Given the description of an element on the screen output the (x, y) to click on. 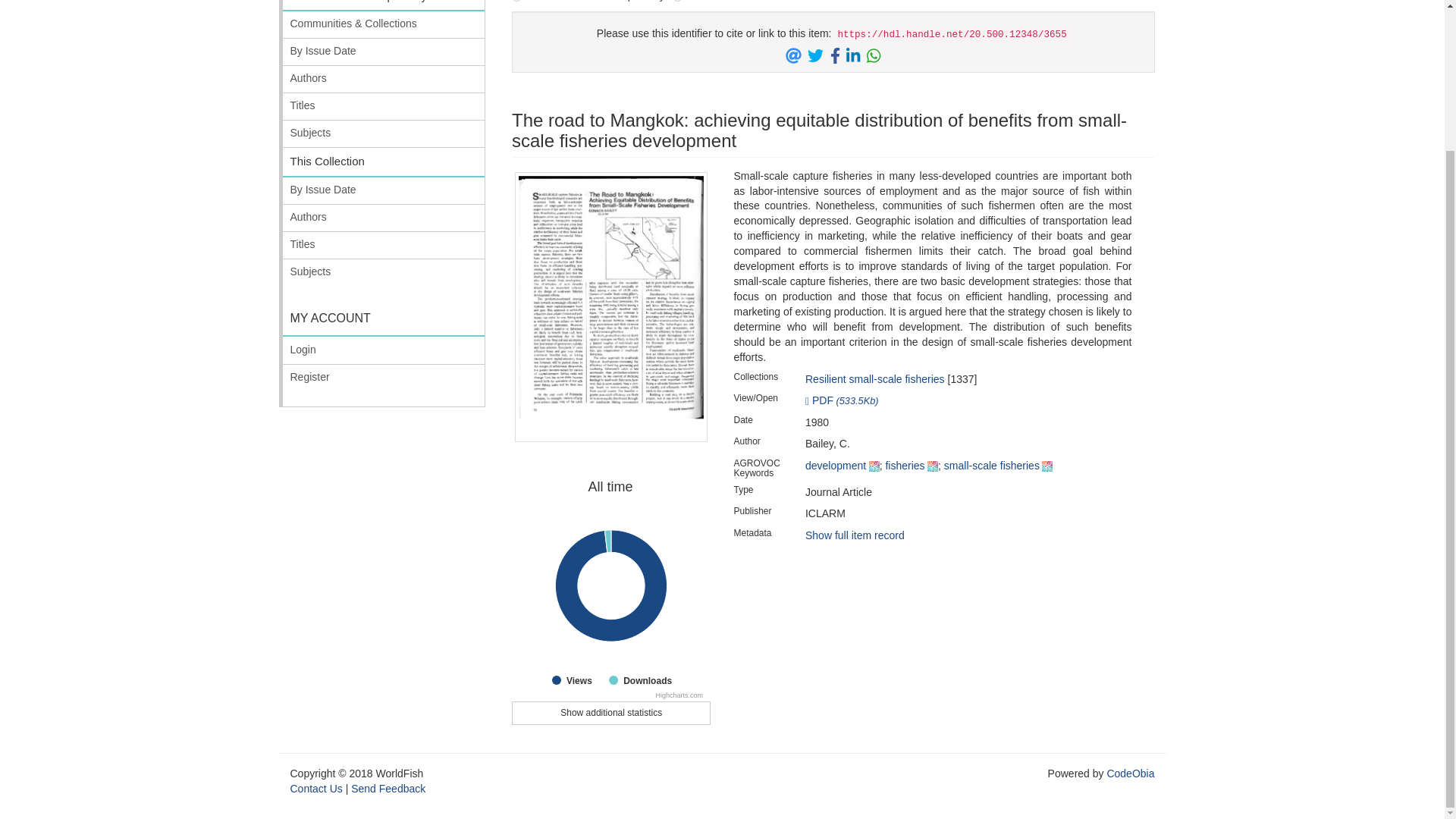
This Collection (383, 161)
Show full item record (854, 535)
Subjects (383, 133)
Titles (383, 106)
Authors (383, 79)
development (835, 465)
CodeObia (1130, 773)
By Issue Date (383, 51)
Show additional statistics (611, 587)
Resilient small-scale fisheries (611, 712)
All of WorldFish Repository (874, 378)
small-scale fisheries (383, 5)
fisheries (991, 465)
